Given the description of an element on the screen output the (x, y) to click on. 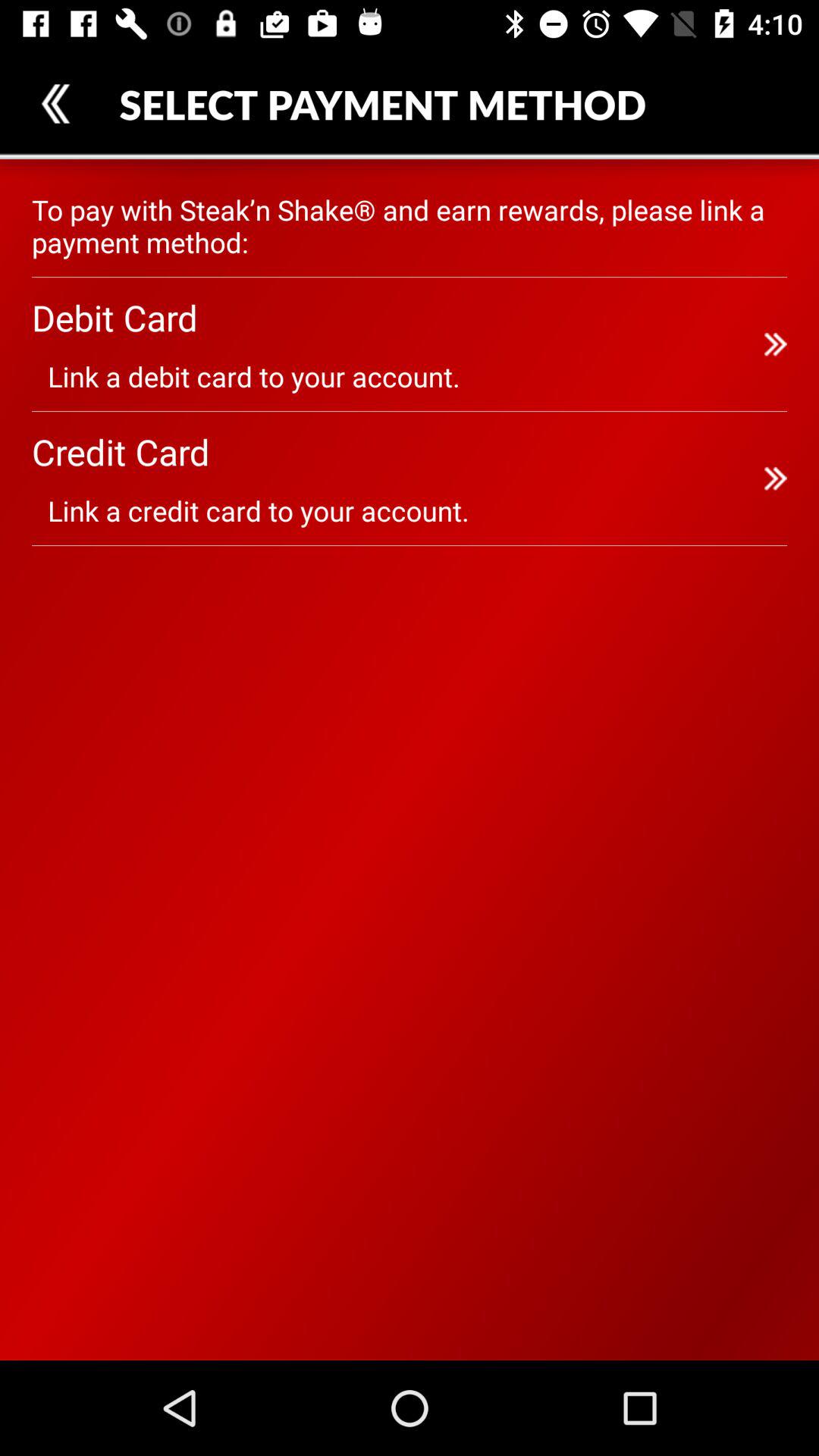
launch the icon above the to pay with (55, 103)
